Given the description of an element on the screen output the (x, y) to click on. 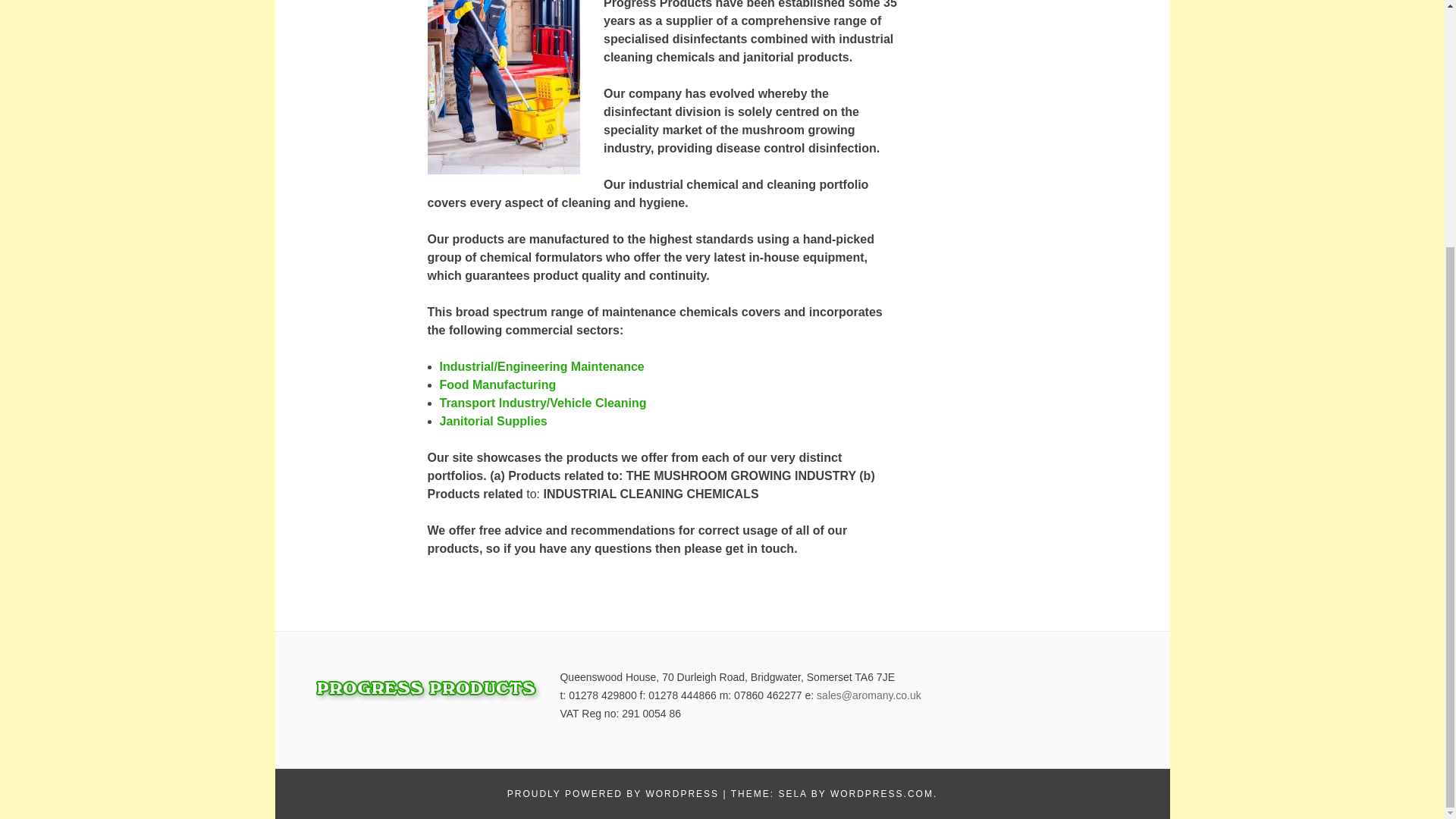
Food Manufacturing (497, 384)
A Semantic Personal Publishing Platform (612, 793)
WORDPRESS.COM (881, 793)
Janitorial Supplies (493, 420)
PROUDLY POWERED BY WORDPRESS (612, 793)
